Given the description of an element on the screen output the (x, y) to click on. 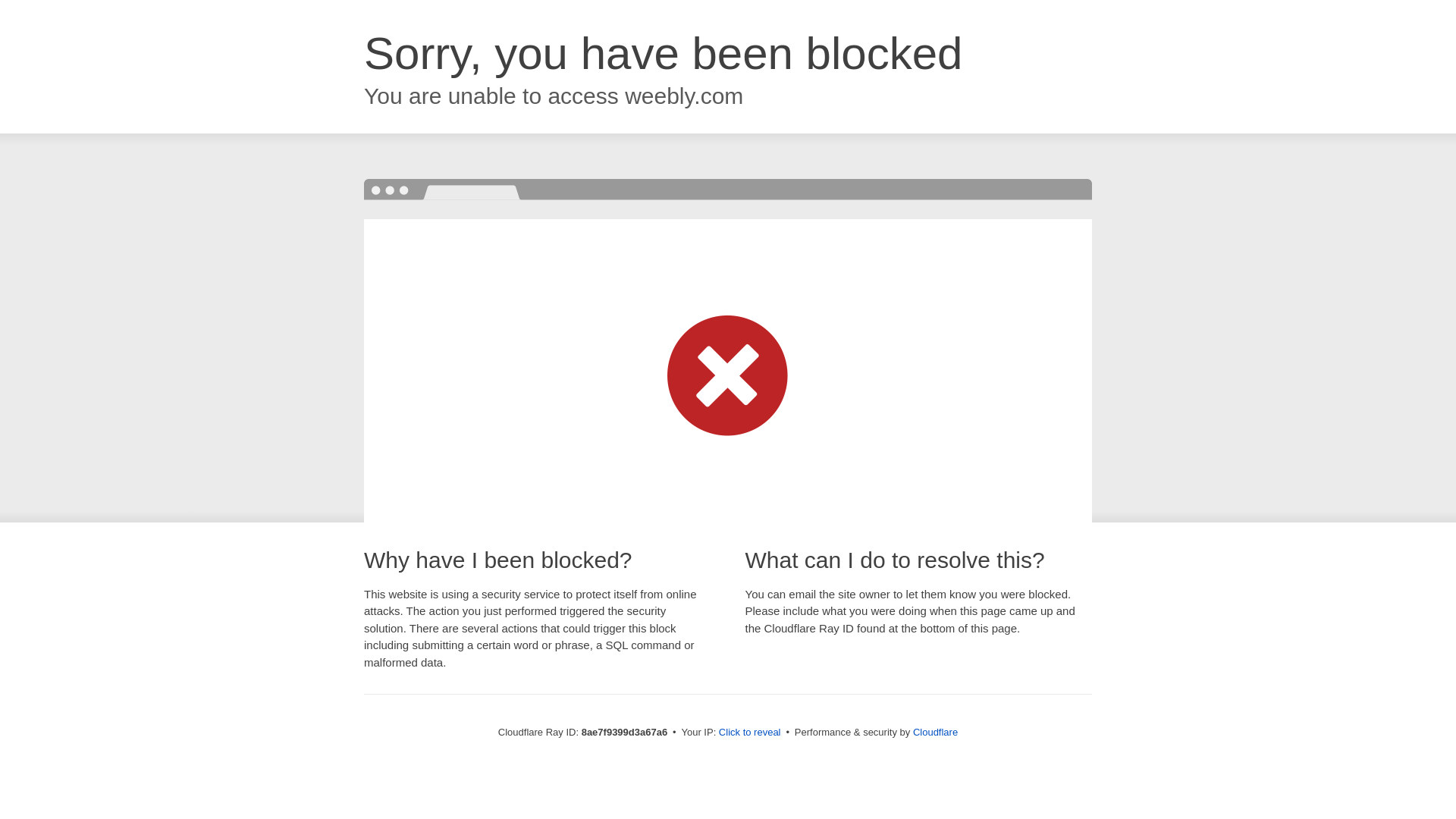
Cloudflare (935, 731)
Click to reveal (749, 732)
